Given the description of an element on the screen output the (x, y) to click on. 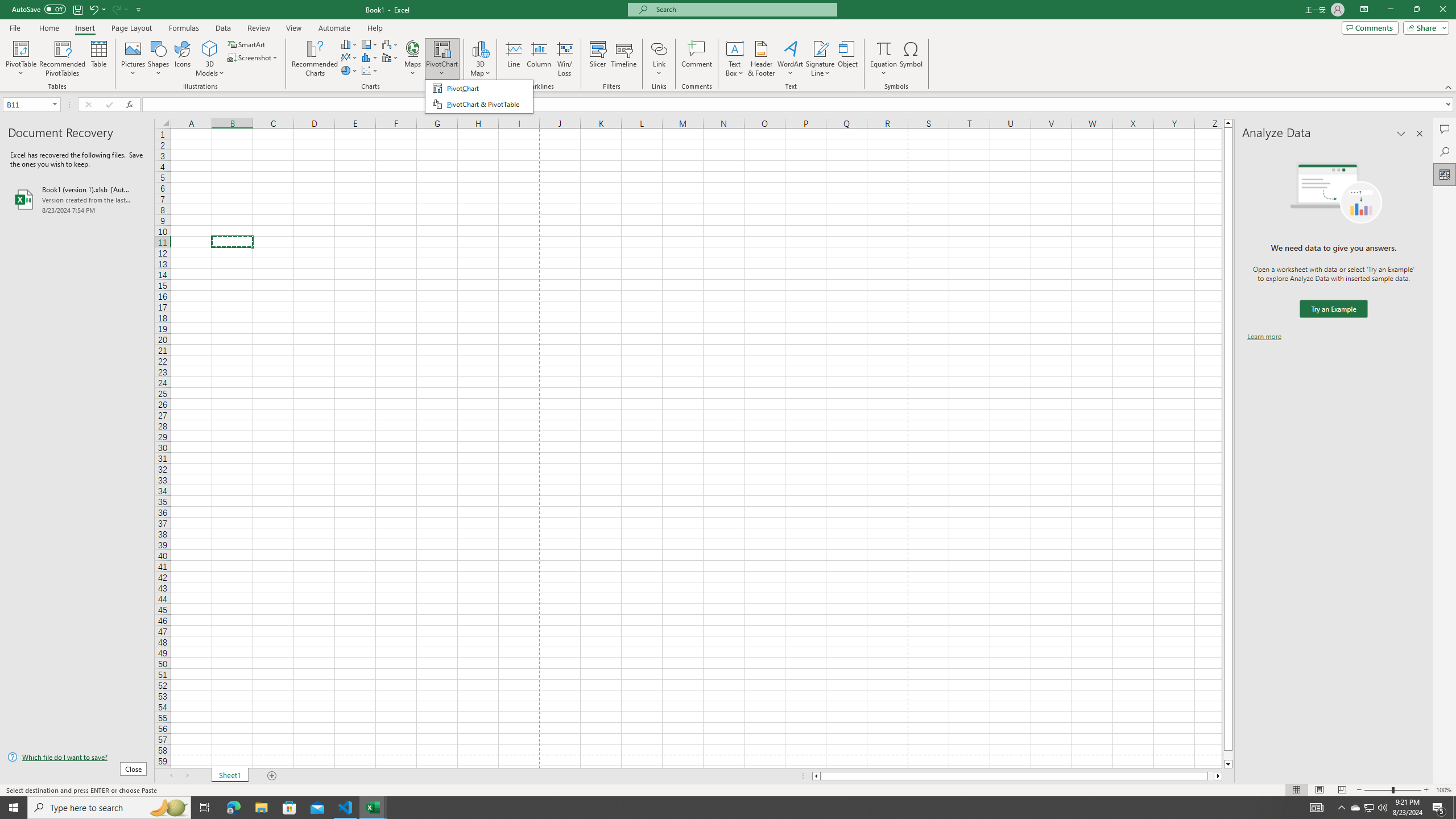
Class: NetUIScrollBar (1016, 775)
3D Map (480, 48)
Recommended PivotTables (62, 58)
Signature Line (820, 58)
Draw Horizontal Text Box (734, 48)
Insert Waterfall, Funnel, Stock, Surface, or Radar Chart (390, 44)
Q2790: 100% (1382, 807)
Class: MsoCommandBar (728, 789)
Microsoft search (742, 9)
Add Sheet (272, 775)
Signature Line (820, 48)
3D Map (480, 58)
